Given the description of an element on the screen output the (x, y) to click on. 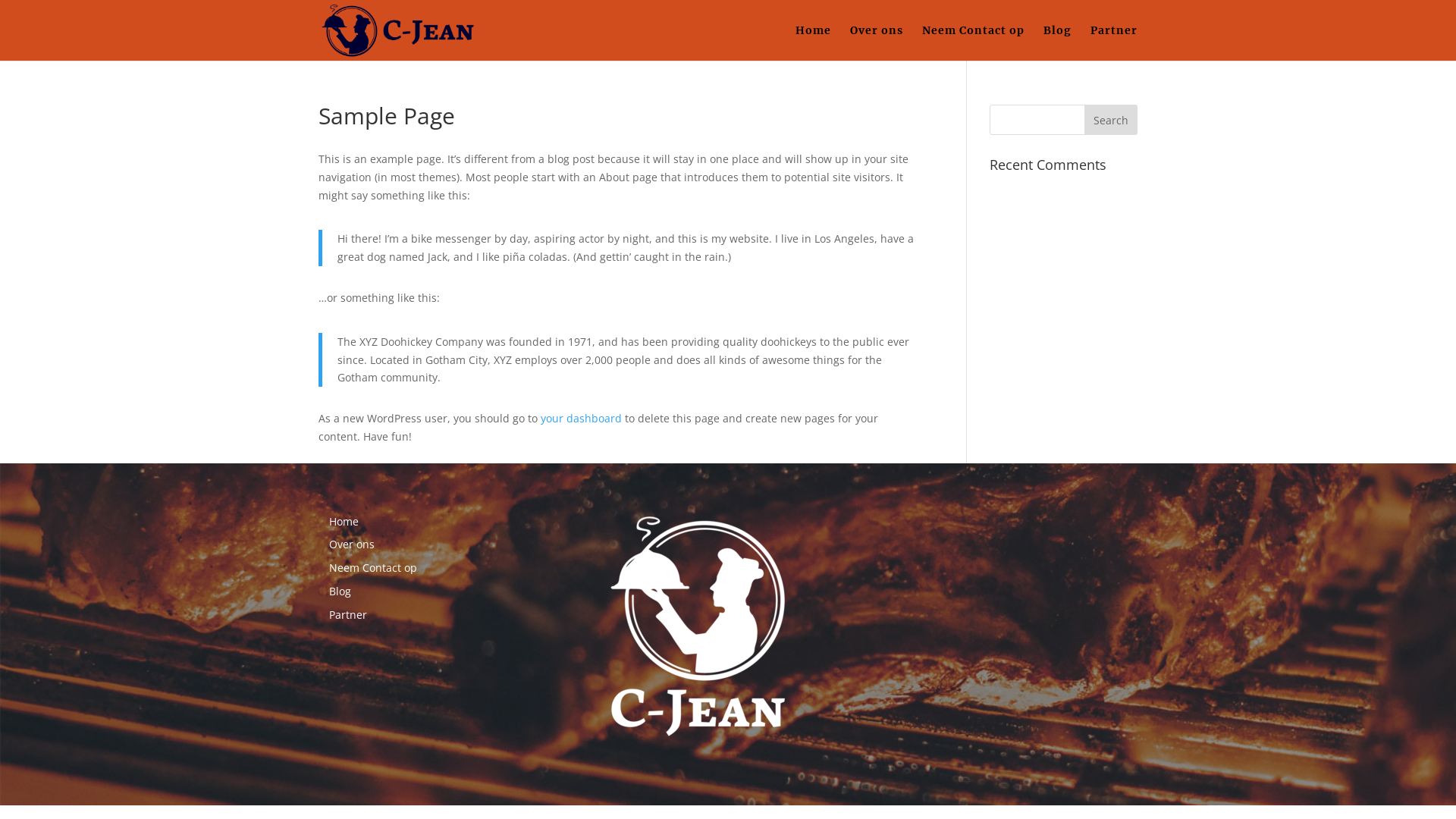
Partner Element type: text (1113, 42)
Search Element type: text (1110, 119)
Neem Contact op Element type: text (973, 42)
your dashboard Element type: text (580, 418)
Over ons Element type: text (351, 543)
Partner Element type: text (348, 614)
Neem Contact op Element type: text (373, 567)
Home Element type: text (813, 42)
Home Element type: text (343, 521)
Over ons Element type: text (876, 42)
Blog Element type: text (1057, 42)
Blog Element type: text (340, 590)
